Given the description of an element on the screen output the (x, y) to click on. 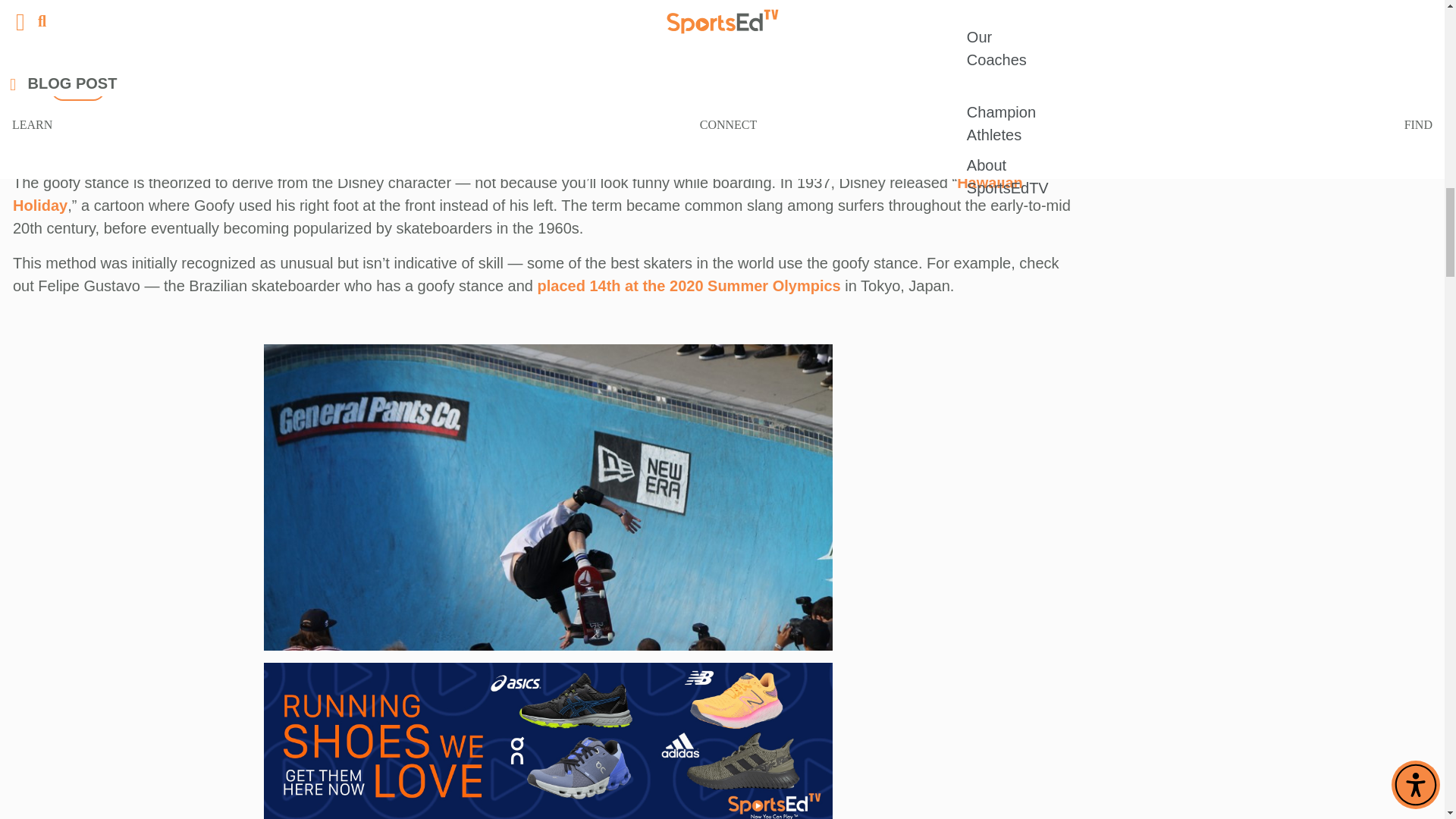
placed 14th at the 2020 Summer Olympics (689, 285)
Hawaiian Holiday (518, 193)
